Given the description of an element on the screen output the (x, y) to click on. 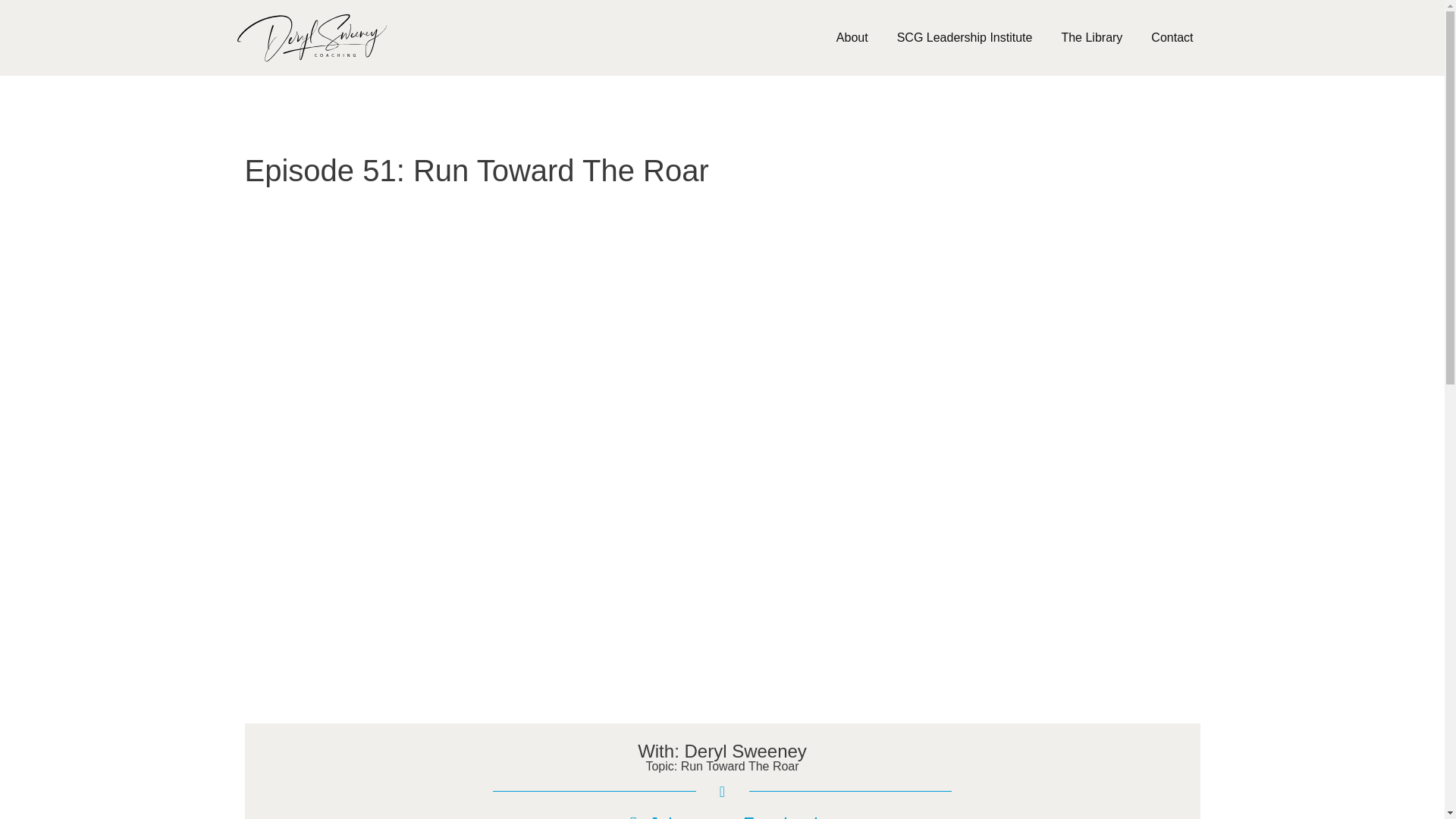
About (852, 37)
The Library (1091, 37)
Contact (1172, 37)
Episode 51: Run Toward The Roar (475, 170)
SCG Leadership Institute (964, 37)
